Given the description of an element on the screen output the (x, y) to click on. 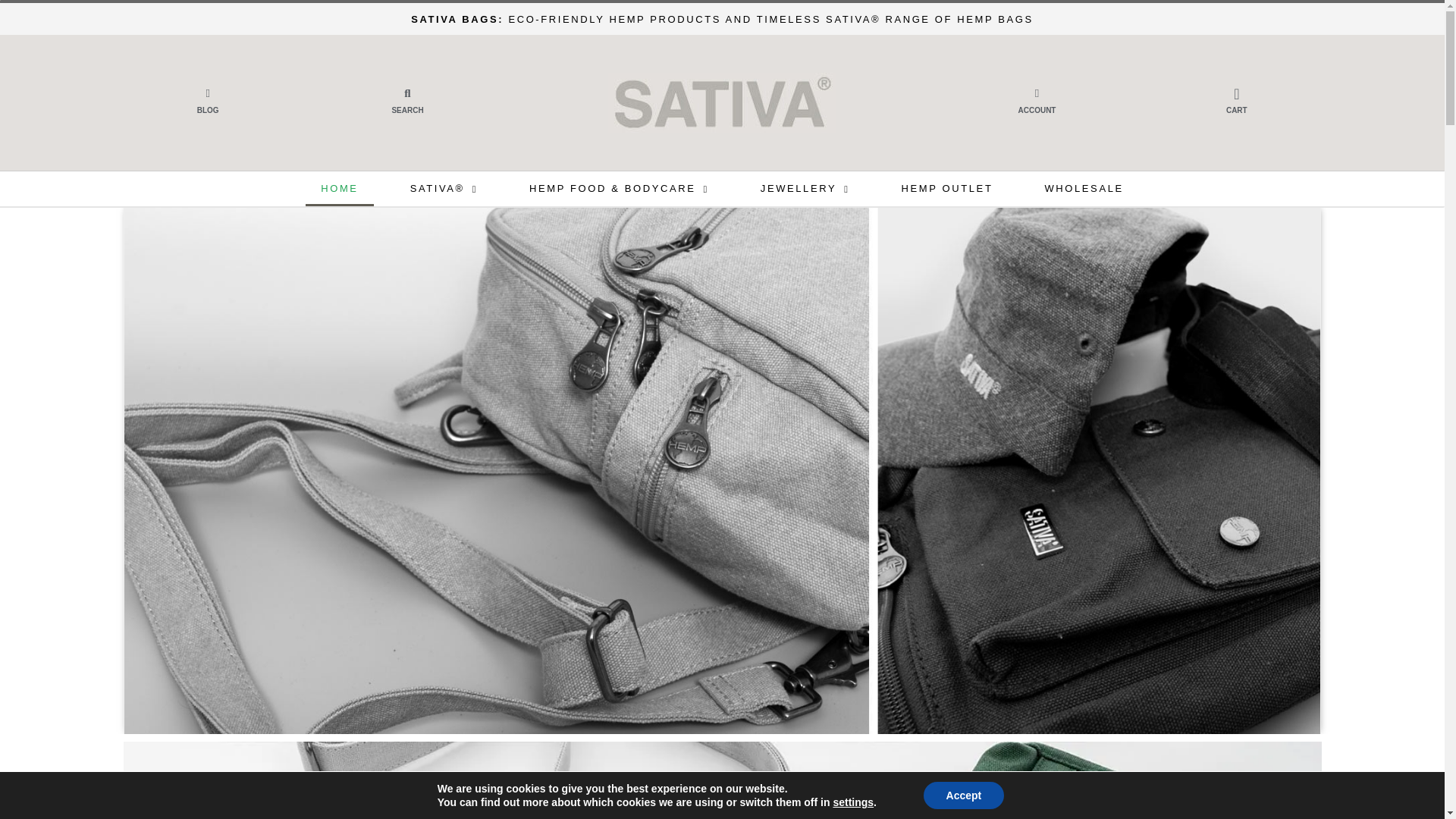
ACCOUNT (1036, 110)
JEWELLERY (804, 188)
BLOG (207, 110)
HEMP OUTLET (947, 188)
HOME (338, 188)
WHOLESALE (1083, 188)
SEARCH (407, 110)
